Given the description of an element on the screen output the (x, y) to click on. 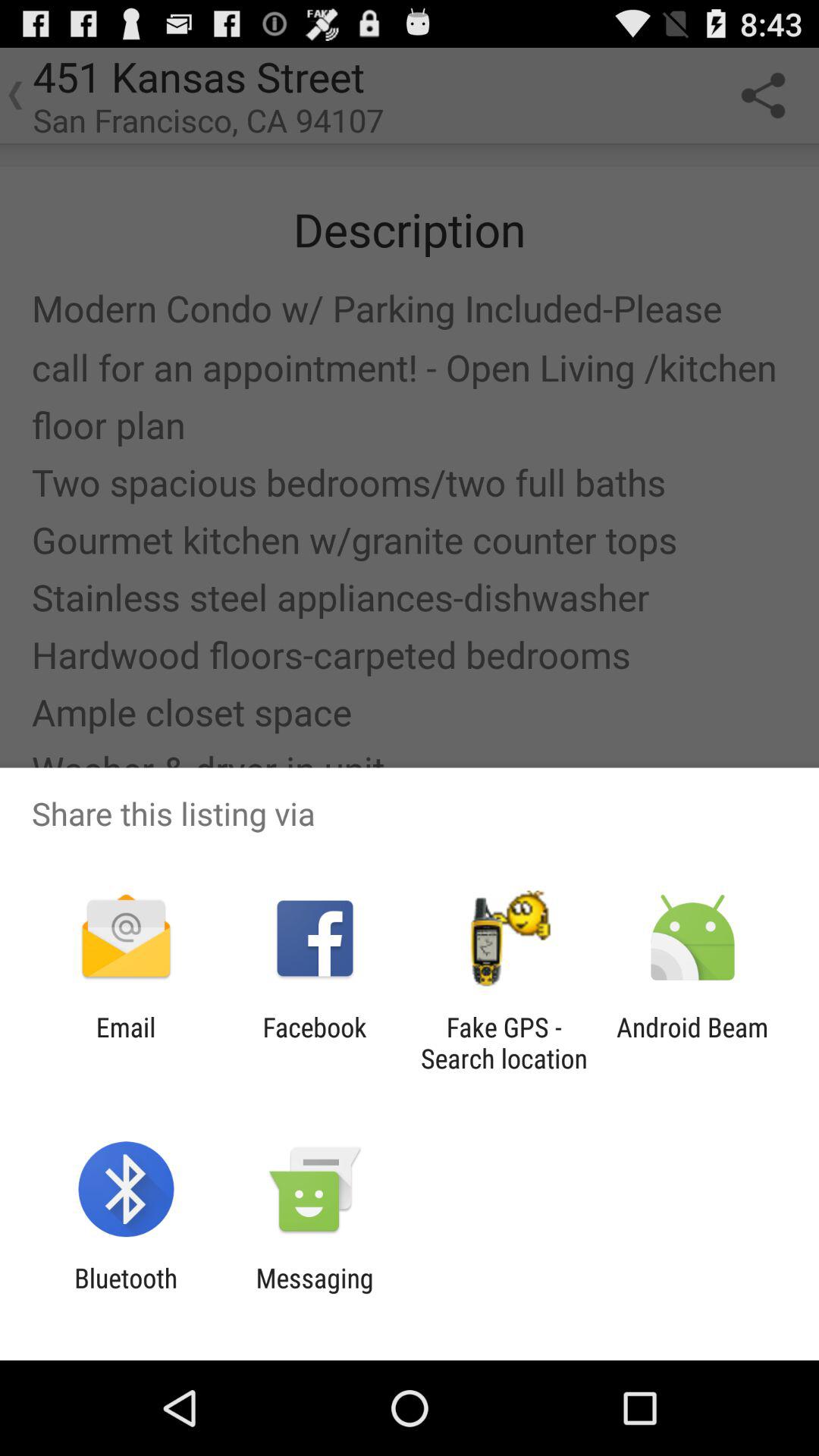
open item next to the fake gps search item (314, 1042)
